Given the description of an element on the screen output the (x, y) to click on. 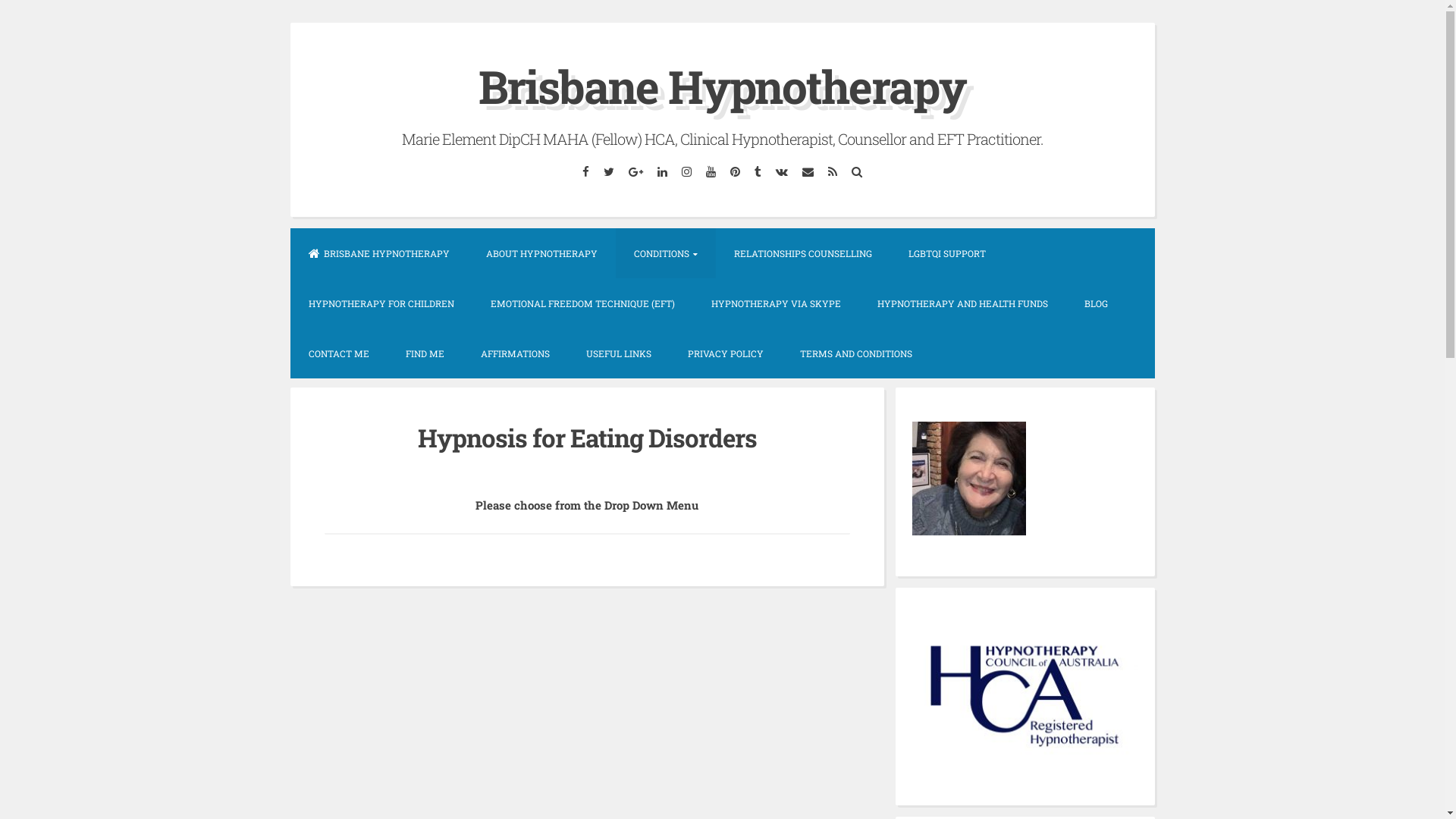
Skip to content Element type: text (289, 22)
RELATIONSHIPS COUNSELLING Element type: text (802, 252)
Brisbane Hypnotherapy Element type: text (722, 86)
Pinterest Element type: text (735, 170)
RSS Element type: text (832, 170)
Email Element type: text (807, 170)
AFFIRMATIONS Element type: text (514, 352)
EMOTIONAL FREEDOM TECHNIQUE (EFT) Element type: text (581, 302)
LGBTQI SUPPORT Element type: text (947, 252)
Search Element type: text (857, 170)
CONTACT ME Element type: text (337, 352)
YouTube Element type: text (710, 170)
Tumblr Element type: text (758, 170)
BRISBANE HYPNOTHERAPY Element type: text (378, 252)
Google Plus Element type: text (636, 170)
PRIVACY POLICY Element type: text (724, 352)
Twitter Element type: text (608, 170)
HYPNOTHERAPY VIA SKYPE Element type: text (776, 302)
TERMS AND CONDITIONS Element type: text (855, 352)
BLOG Element type: text (1096, 302)
Linkedin Element type: text (662, 170)
HYPNOTHERAPY AND HEALTH FUNDS Element type: text (961, 302)
Instagram Element type: text (686, 170)
CONDITIONS Element type: text (665, 252)
Facebook Element type: text (585, 170)
ABOUT HYPNOTHERAPY Element type: text (541, 252)
USEFUL LINKS Element type: text (617, 352)
HYPNOTHERAPY FOR CHILDREN Element type: text (380, 302)
FIND ME Element type: text (423, 352)
VK Element type: text (781, 170)
